Given the description of an element on the screen output the (x, y) to click on. 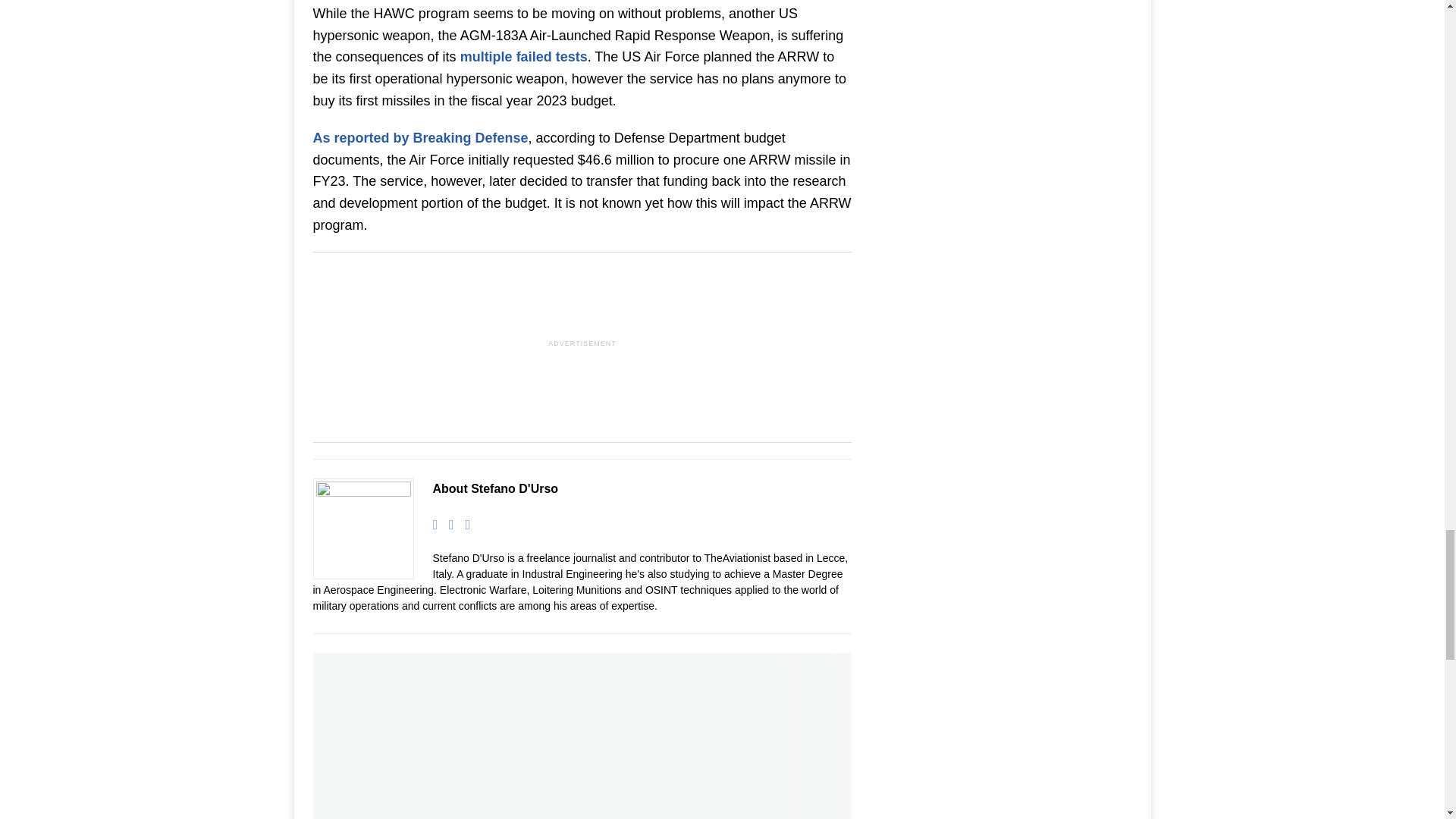
Follow Stefano D'Urso on instagram (462, 524)
As reported by Breaking Defense (420, 137)
Follow Stefano D'Urso on Twitter (446, 524)
multiple failed tests (524, 56)
